Given the description of an element on the screen output the (x, y) to click on. 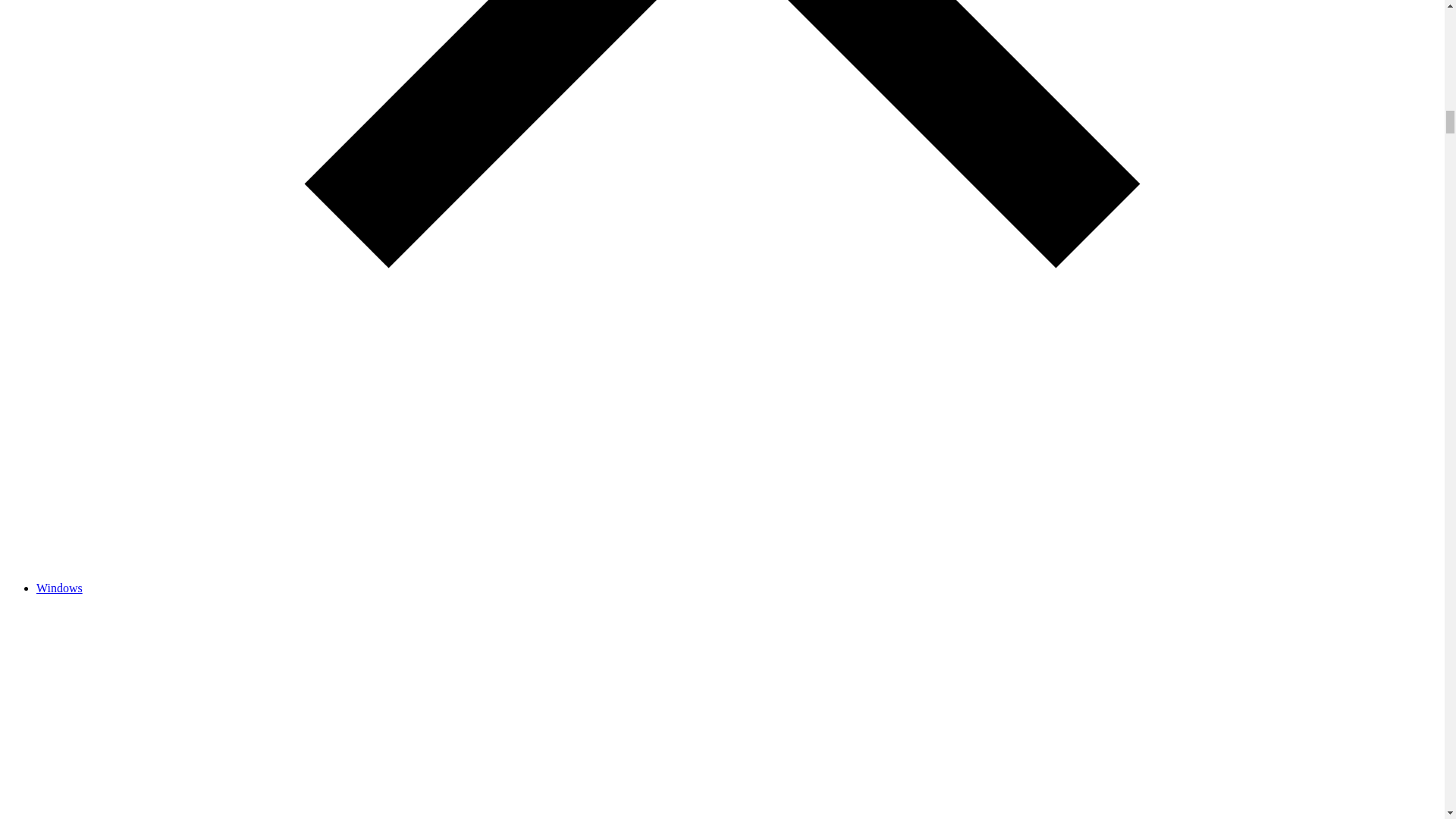
Windows (59, 587)
